Given the description of an element on the screen output the (x, y) to click on. 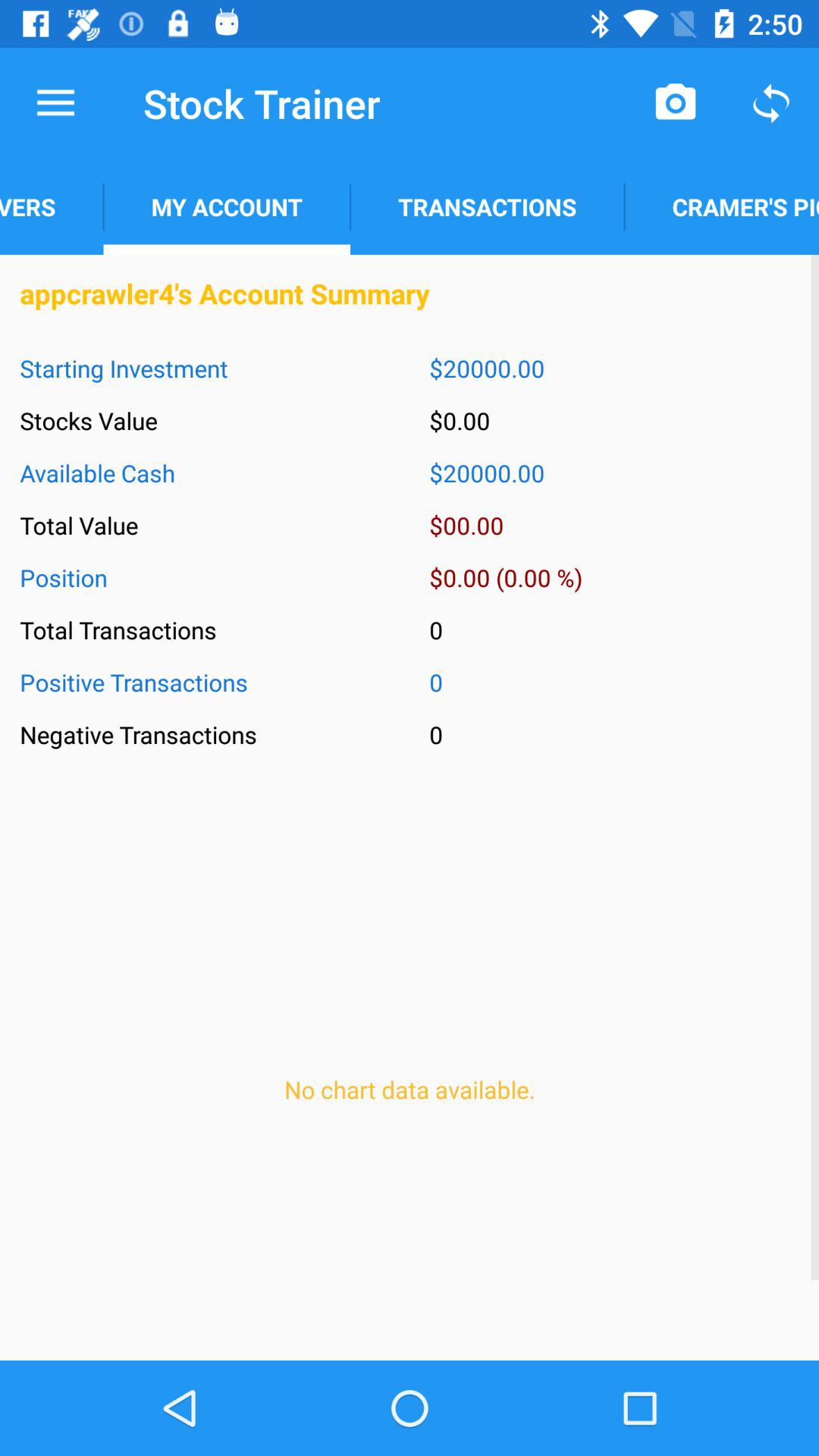
tap app to the left of the transactions (226, 206)
